Given the description of an element on the screen output the (x, y) to click on. 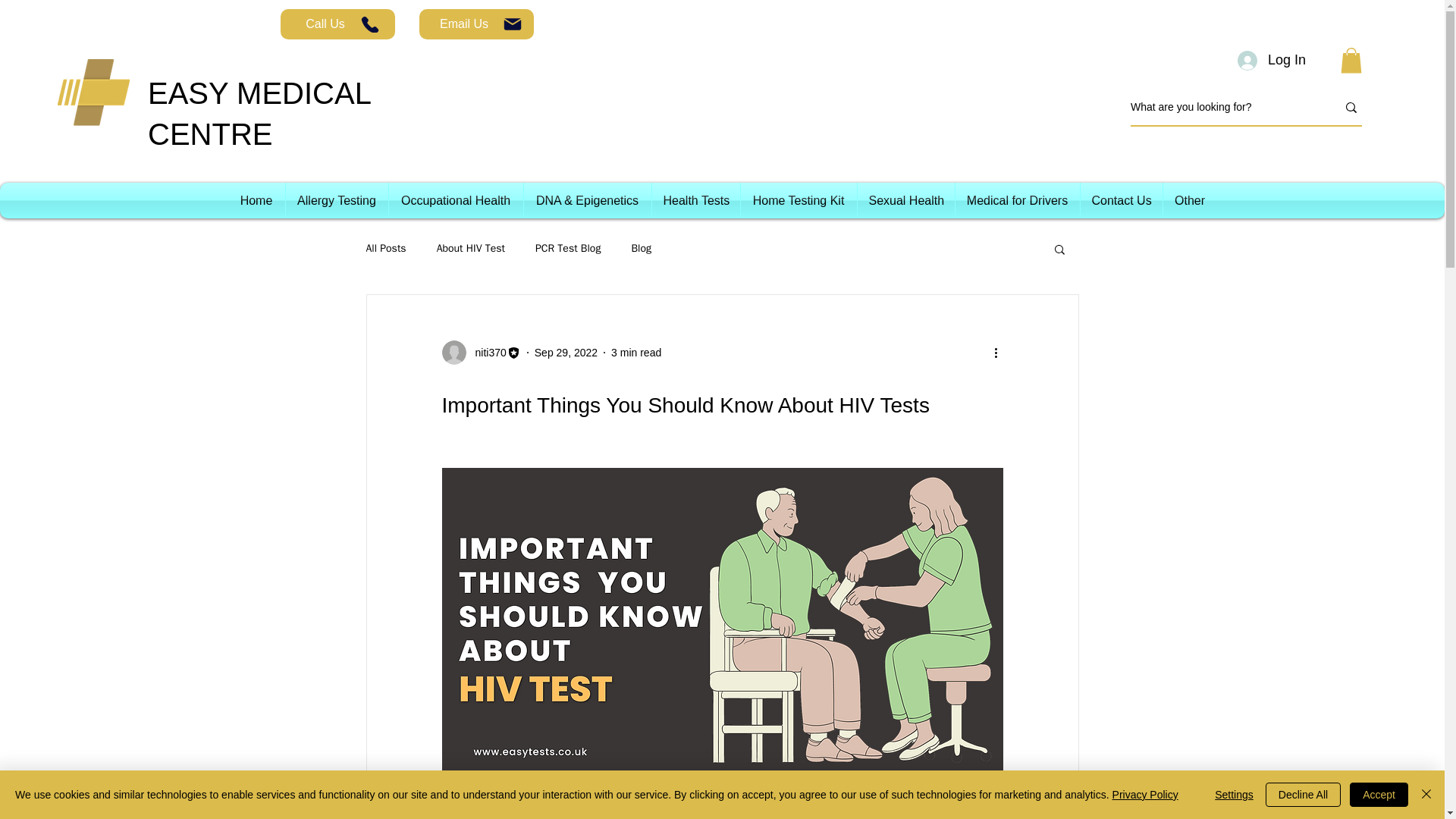
niti370 (485, 351)
Contact Us (1120, 200)
3 min read (636, 351)
EASY MEDICAL CENTRE (258, 113)
Occupational Health (455, 200)
Other (1190, 200)
Medical for Drivers (1017, 200)
Allergy Testing (336, 200)
Home Testing Kit (797, 200)
Sep 29, 2022 (565, 351)
